Given the description of an element on the screen output the (x, y) to click on. 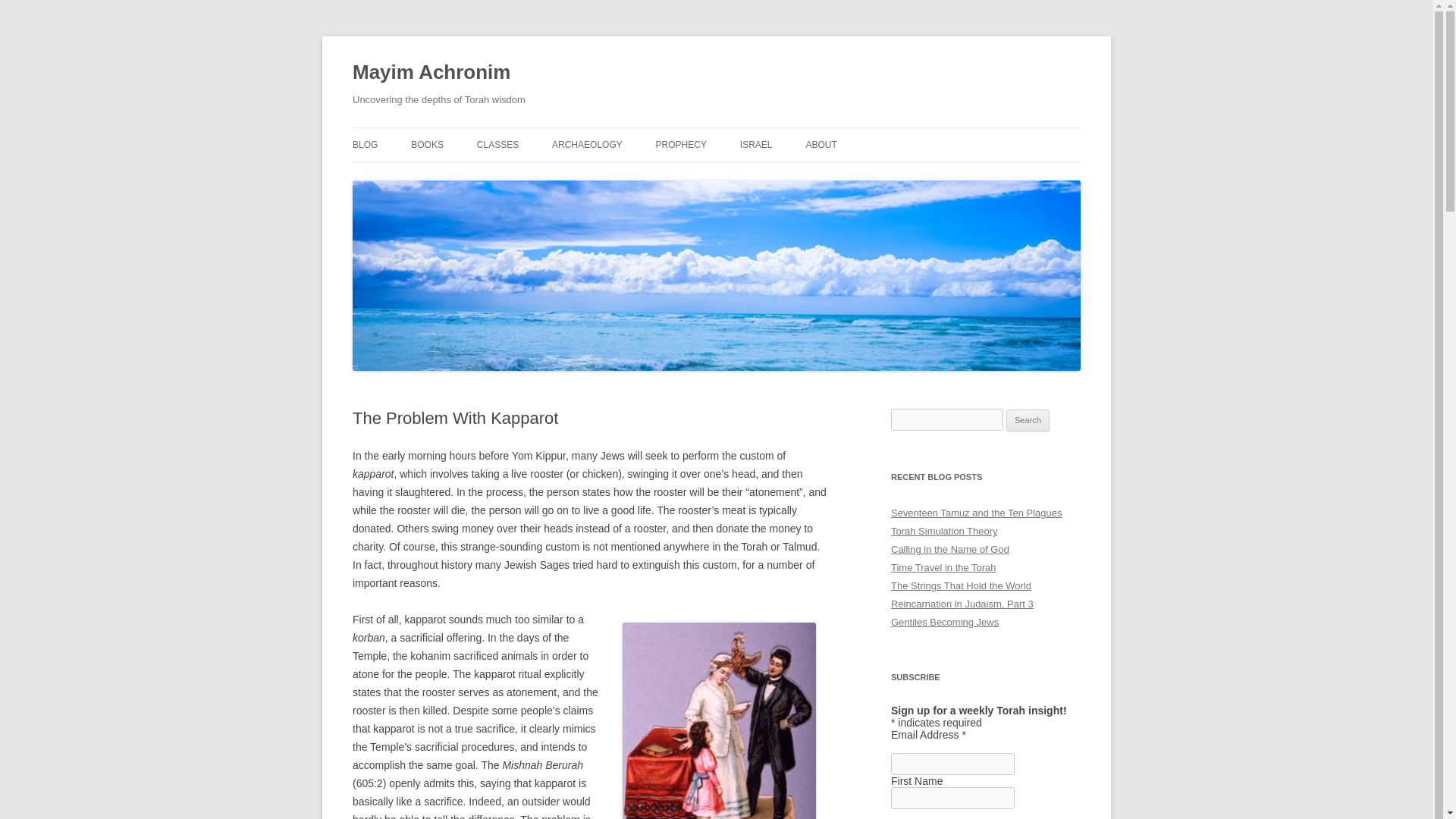
ARCHAEOLOGY (587, 144)
ABOUT (820, 144)
Mayim Achronim (431, 72)
ISRAEL (756, 144)
Search (1027, 420)
PROPHECY (681, 144)
BOOKS (427, 144)
CLASSES (497, 144)
